Given the description of an element on the screen output the (x, y) to click on. 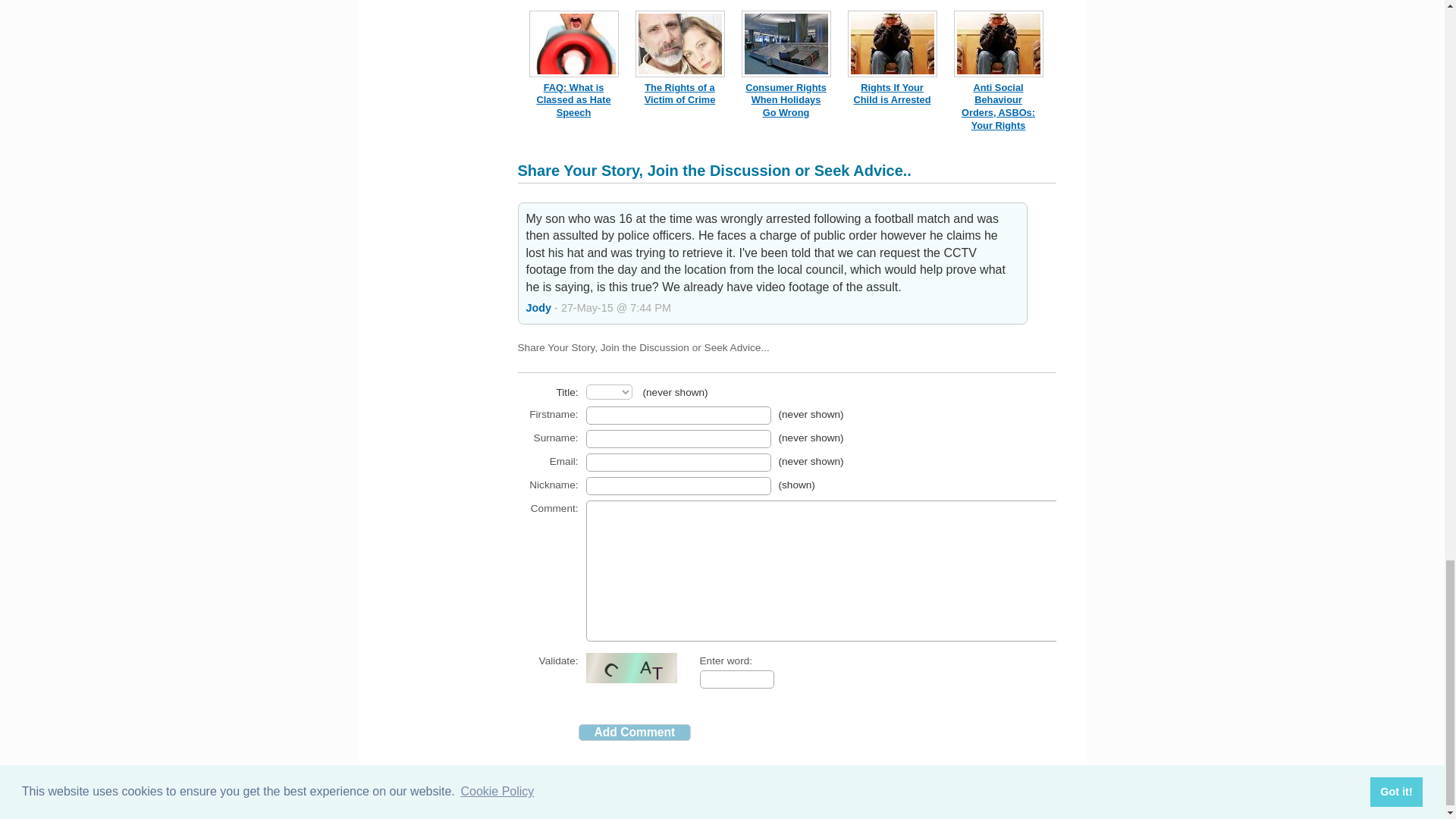
FAQ: What is Classed as Hate Speech (572, 99)
Rights If Your Child is Arrested (892, 93)
Add Comment (634, 732)
Anti Social Behaviour Orders, ASBOs: Your Rights (997, 106)
The Rights of a Victim of Crime (680, 93)
Consumer Rights When Holidays Go Wrong (786, 99)
Add Comment (634, 732)
